Given the description of an element on the screen output the (x, y) to click on. 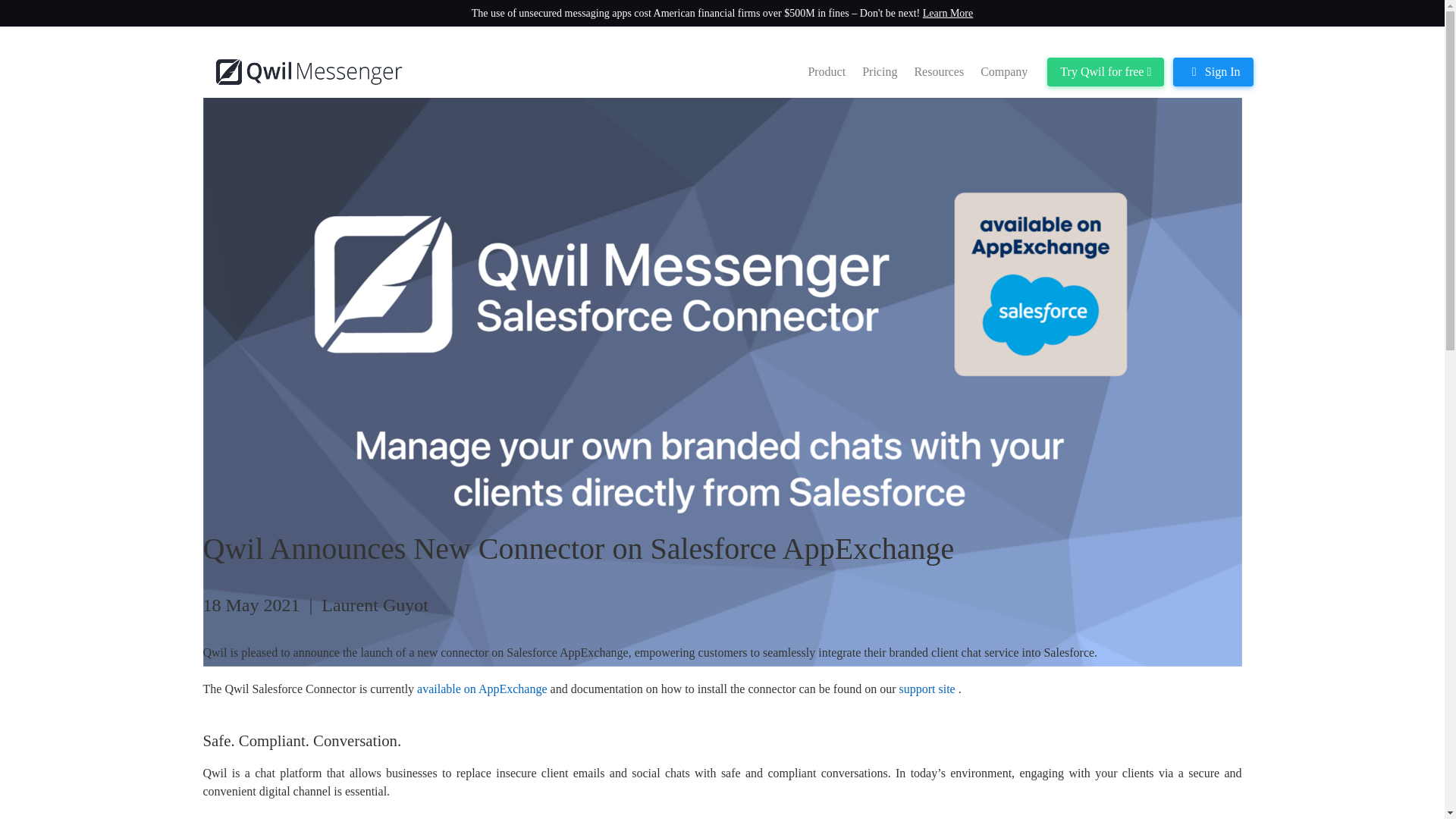
available on AppExchange (483, 688)
Product (826, 71)
Learn More (947, 12)
support site (928, 688)
Pricing (879, 71)
Sign In (1212, 71)
Company (1003, 71)
Resources (938, 71)
